Given the description of an element on the screen output the (x, y) to click on. 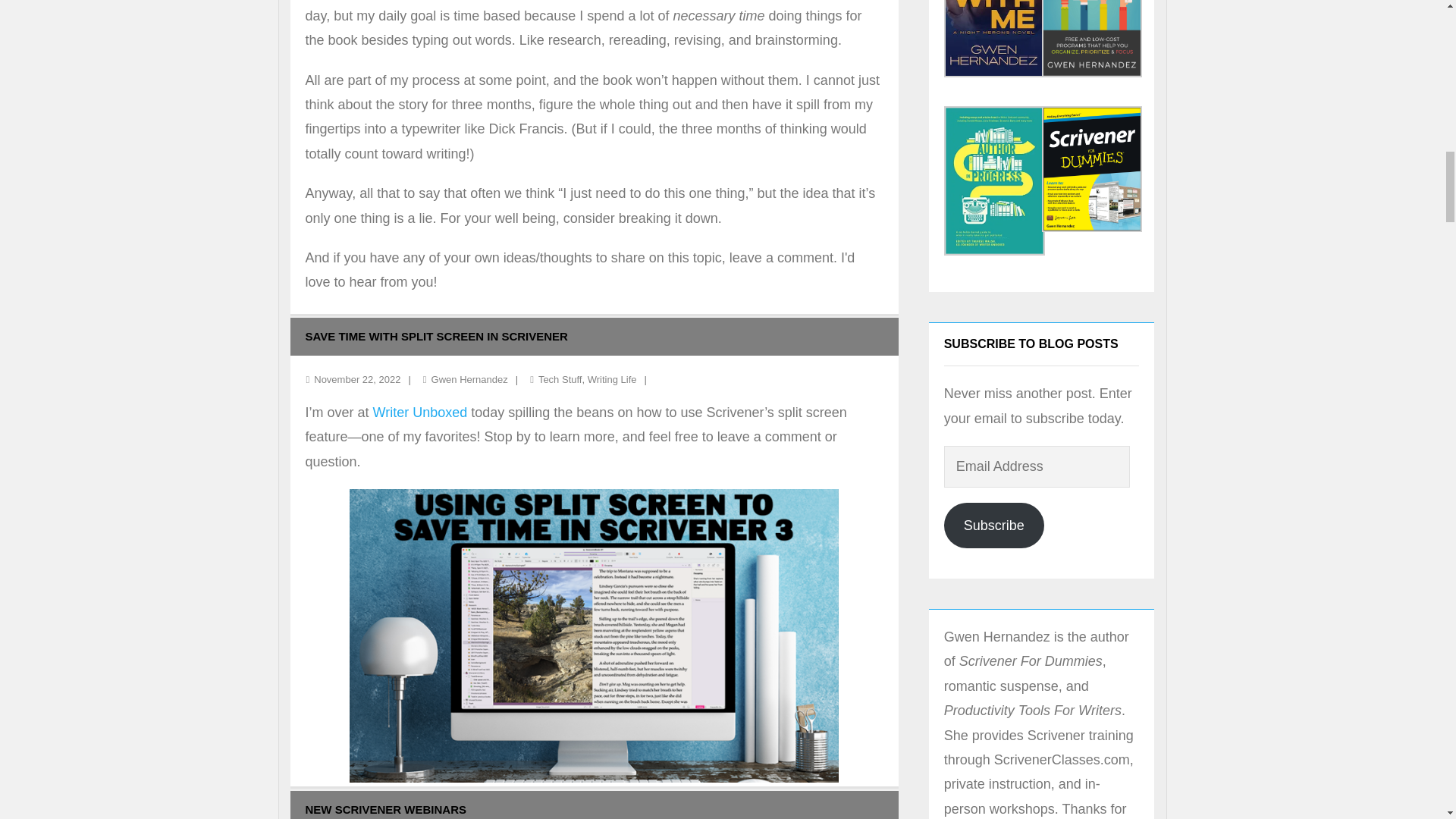
Permalink to New Scrivener webinars (384, 809)
Permalink to Save time with Split Screen in Scrivener (435, 336)
Save time with Split Screen in Scrivener (357, 378)
View all posts by Gwen Hernandez (469, 378)
